Given the description of an element on the screen output the (x, y) to click on. 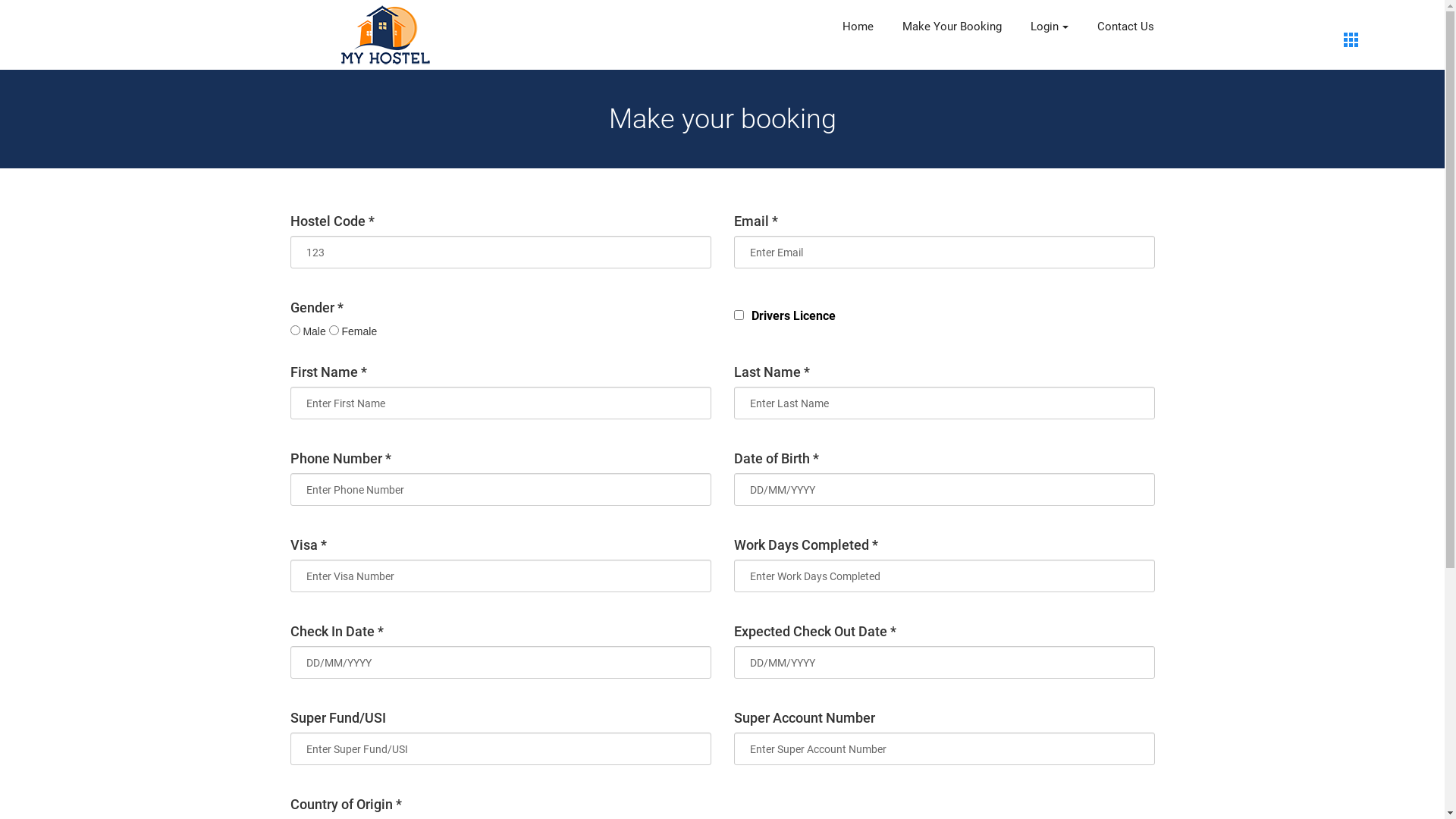
Contact Us Element type: text (1124, 26)
Make Your Booking Element type: text (951, 26)
Home Element type: text (856, 26)
Login Element type: text (1048, 26)
